Given the description of an element on the screen output the (x, y) to click on. 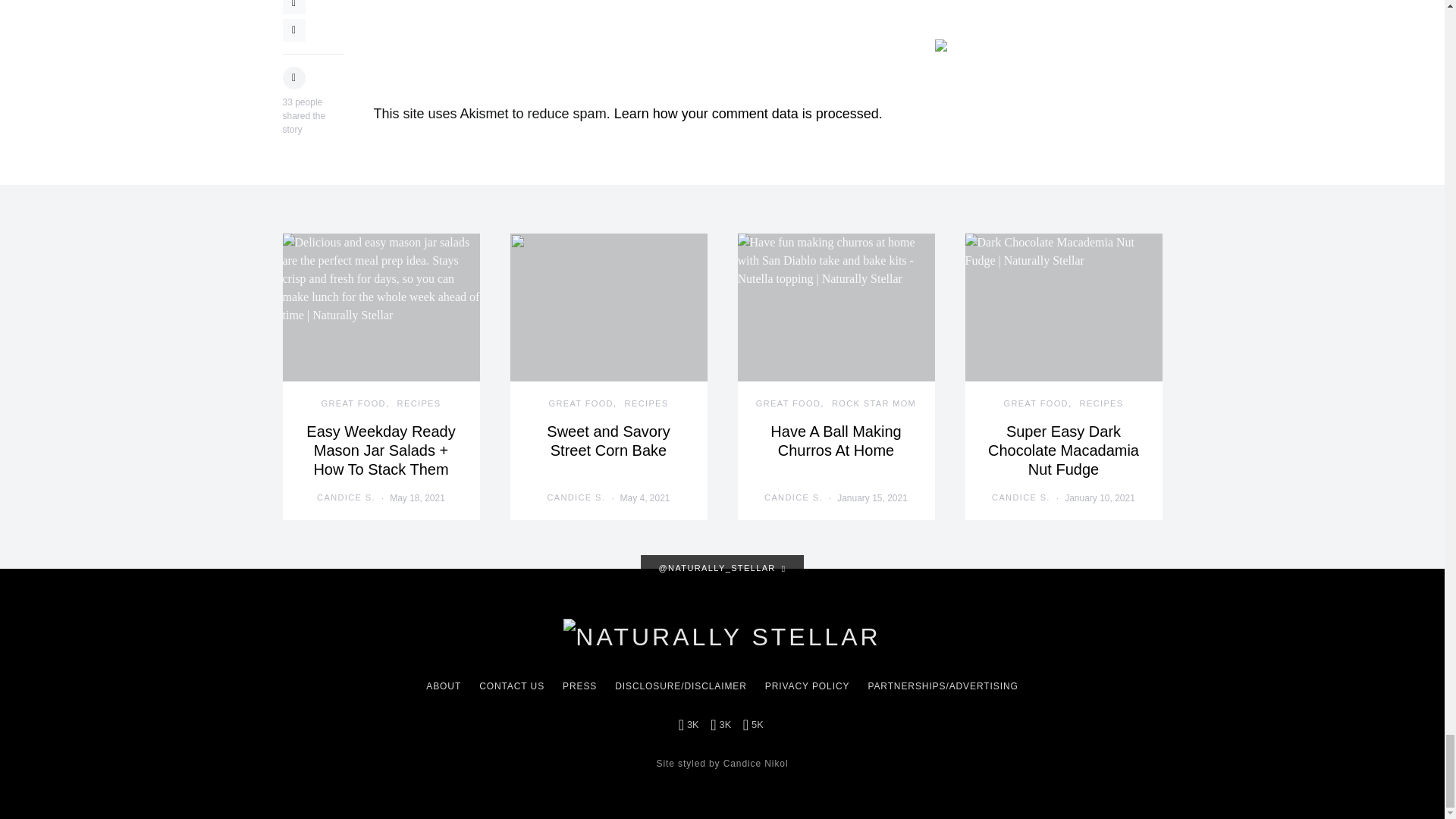
Have A Ball Making Churros At Home (835, 440)
View all posts by Candice S. (793, 497)
Comment Form (631, 52)
View all posts by Candice S. (576, 497)
Sweet and Savory Street Corn Bake (608, 440)
Super Easy Dark Chocolate Macadamia Nut Fudge (1063, 450)
View all posts by Candice S. (1020, 497)
View all posts by Candice S. (346, 497)
